Given the description of an element on the screen output the (x, y) to click on. 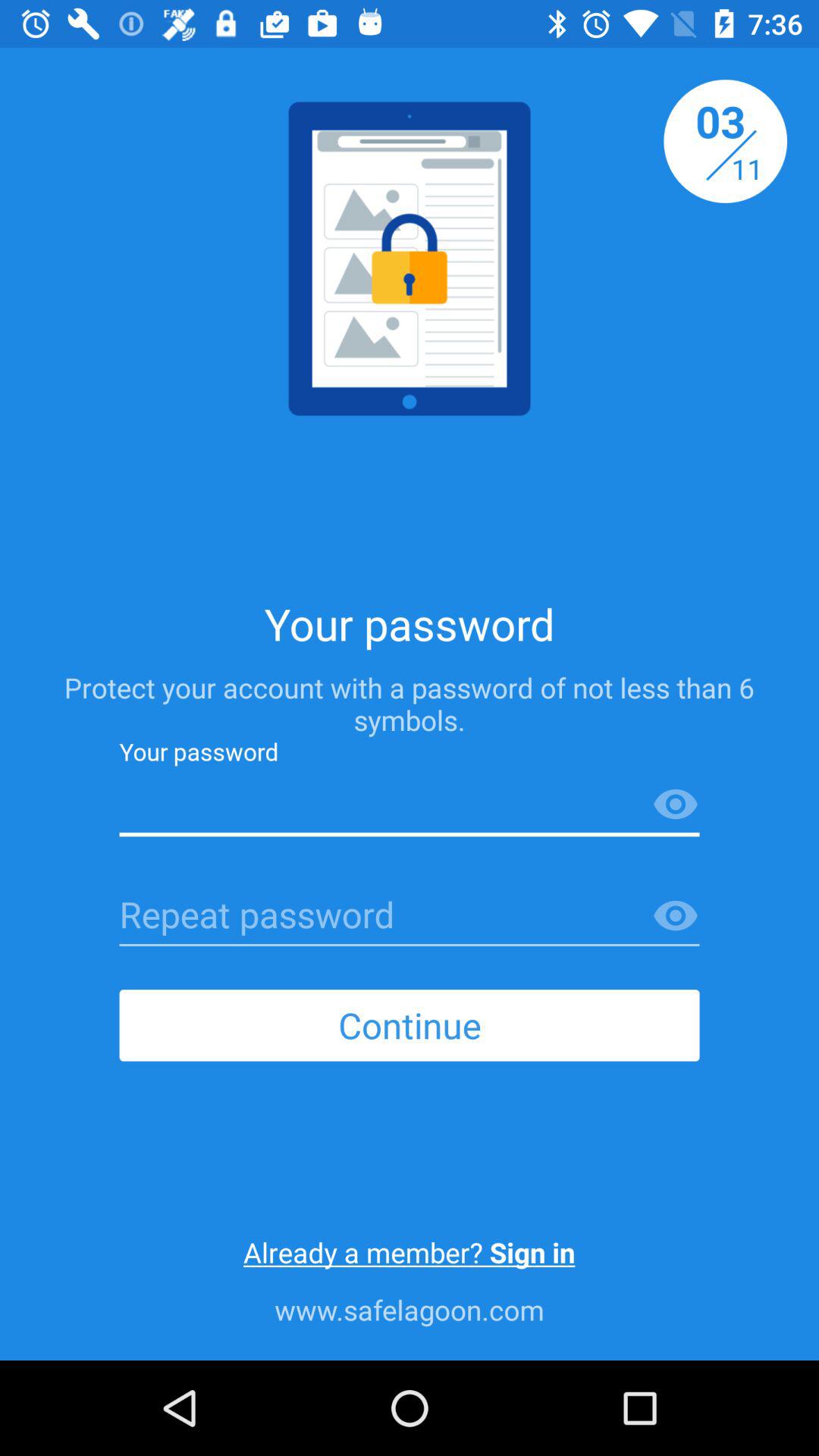
type your password (409, 805)
